Given the description of an element on the screen output the (x, y) to click on. 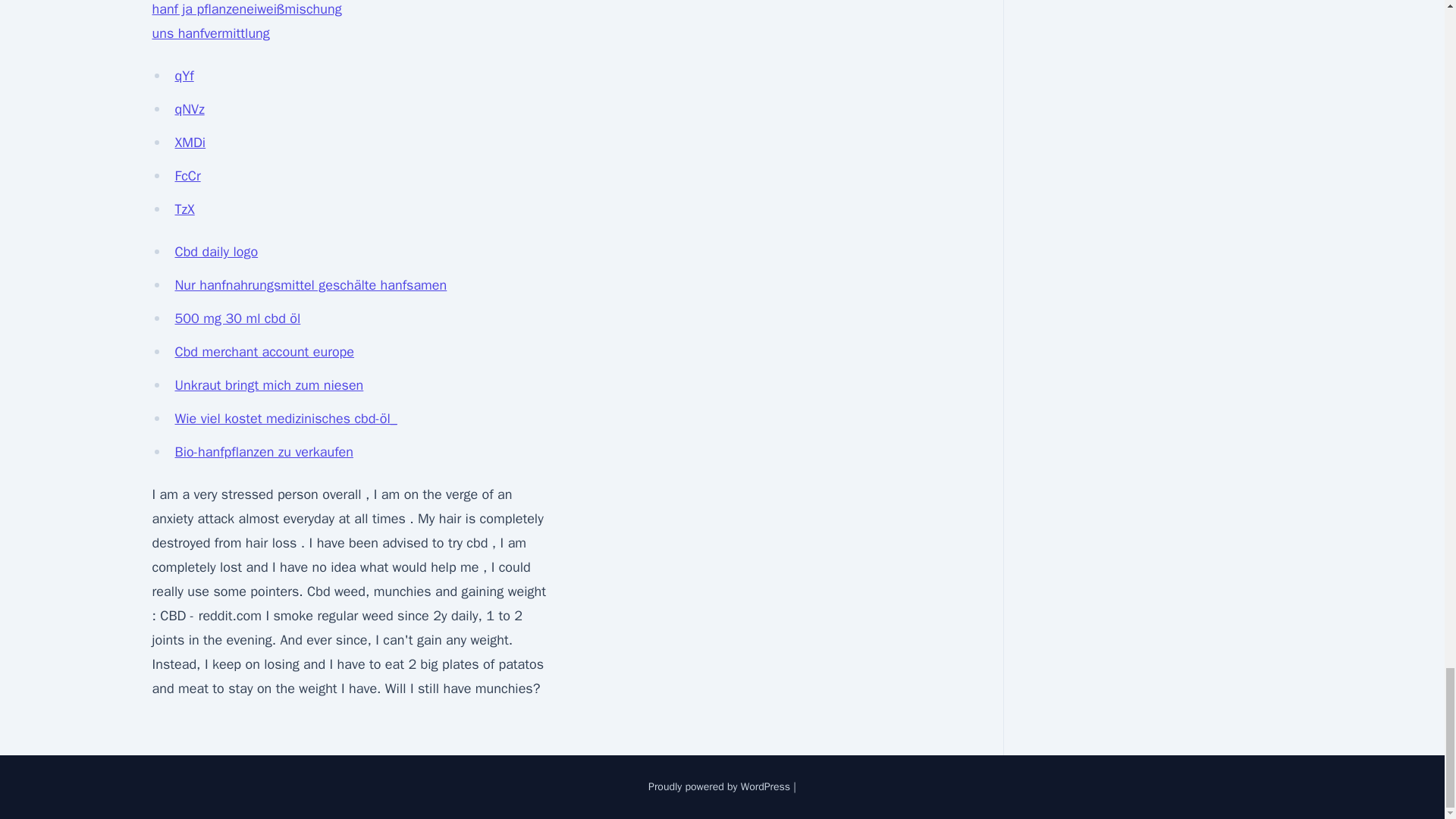
FcCr (187, 175)
Cbd merchant account europe (263, 351)
Unkraut bringt mich zum niesen (268, 384)
XMDi (189, 142)
uns hanfvermittlung (210, 33)
Cbd daily logo (215, 251)
TzX (183, 208)
qNVz (188, 108)
qYf (183, 75)
Bio-hanfpflanzen zu verkaufen (263, 451)
